Given the description of an element on the screen output the (x, y) to click on. 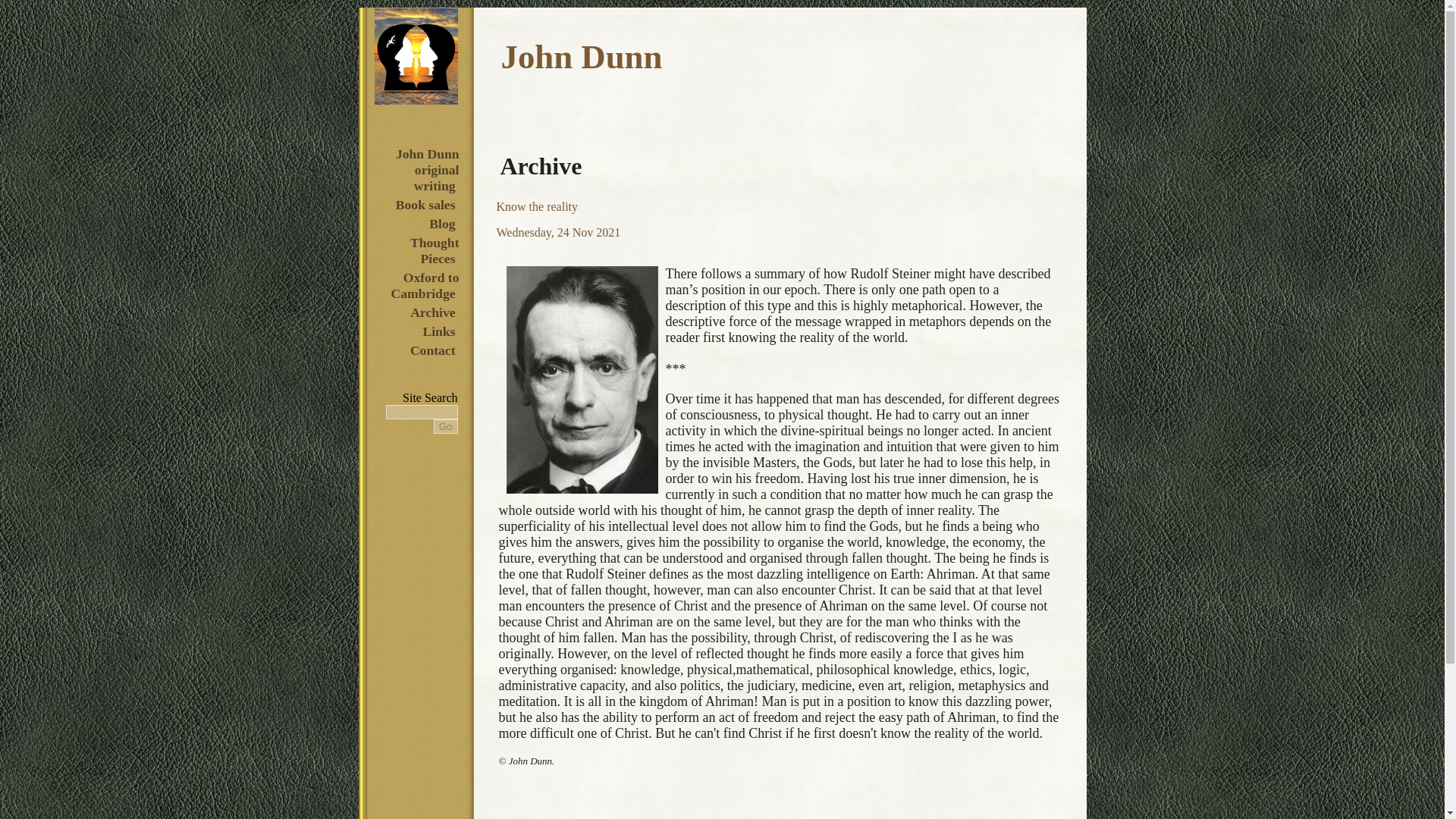
Go (445, 426)
Book sales (425, 204)
Blog (441, 223)
Links (438, 331)
Contact (433, 350)
Go (445, 426)
Thought Pieces (433, 250)
Oxford to Cambridge (424, 285)
John Dunn original writing (425, 169)
Go (445, 426)
Archive (432, 312)
